Given the description of an element on the screen output the (x, y) to click on. 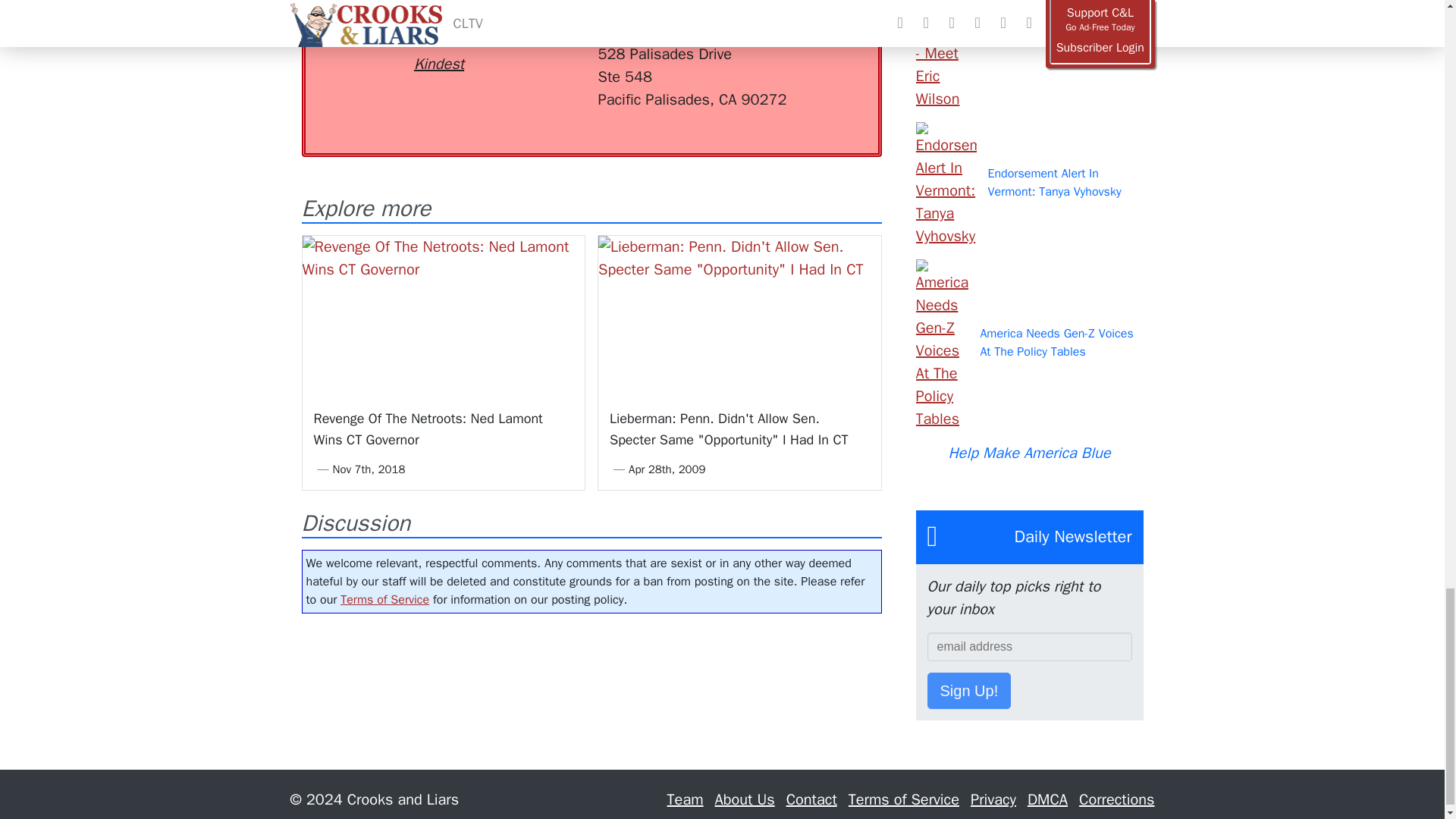
Donate via PayPal (540, 26)
Revenge Of The Netroots: Ned Lamont Wins CT Governor (443, 314)
Donate via Kindest (438, 38)
Revenge Of The Netroots: Ned Lamont Wins CT Governor (428, 429)
